Given the description of an element on the screen output the (x, y) to click on. 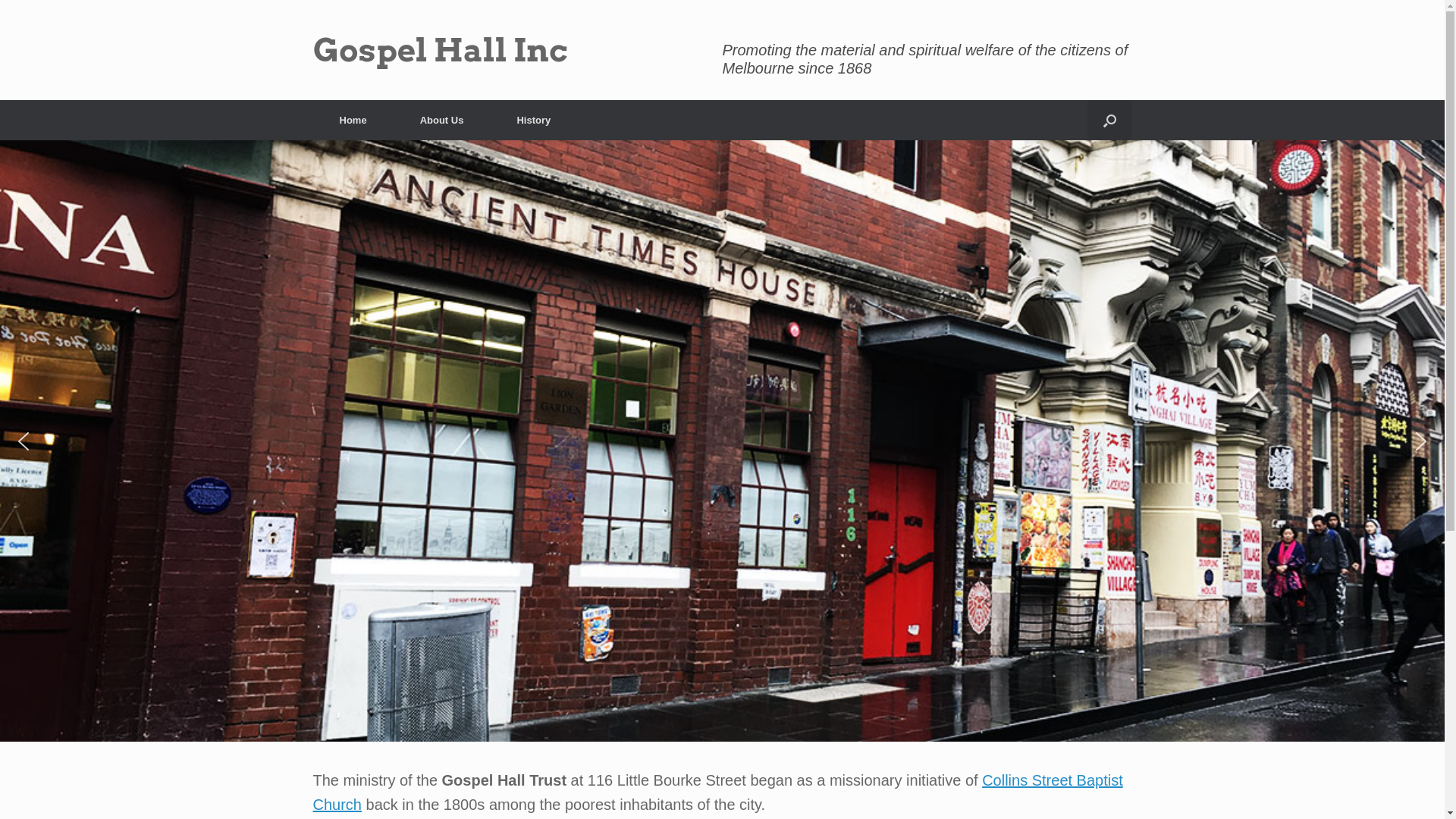
History Element type: text (533, 120)
About Us Element type: text (441, 120)
Collins Street Baptist Church Element type: text (717, 791)
Home Element type: text (352, 120)
Skip to content Element type: text (0, 0)
Gospel Hall Inc Element type: text (439, 49)
